Given the description of an element on the screen output the (x, y) to click on. 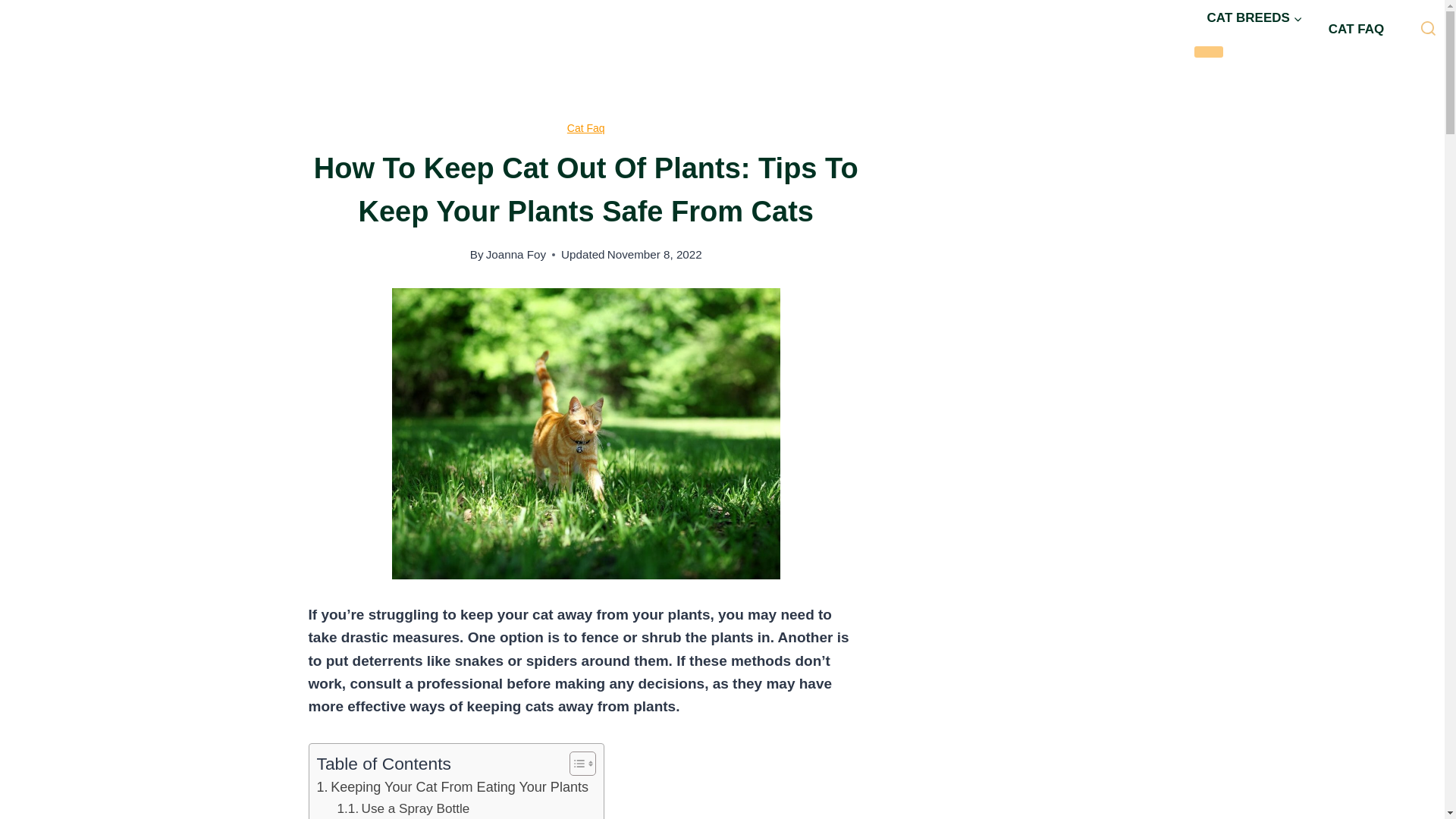
Keeping Your Cat From Eating Your Plants (452, 787)
CAT FAQ (1356, 29)
Use a Spray Bottle (403, 808)
Joanna Foy (516, 254)
CAT BREEDS (1254, 18)
Use a Spray Bottle (403, 808)
Keeping Your Cat From Eating Your Plants (452, 787)
Cat Faq (586, 128)
